Given the description of an element on the screen output the (x, y) to click on. 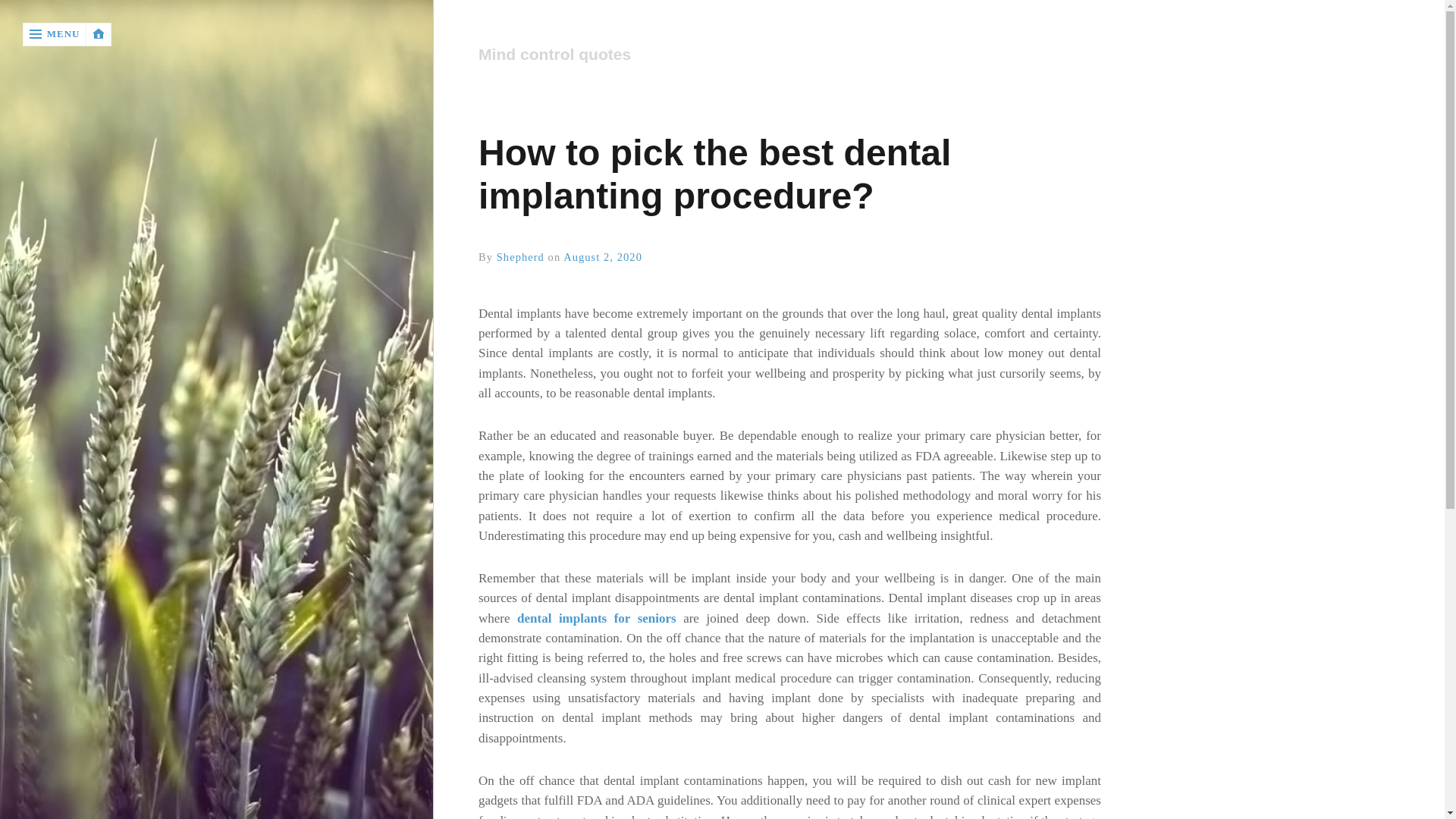
12:04 pm (602, 256)
dental implants for seniors (596, 617)
Mind control quotes (782, 54)
MENU (55, 33)
Home (789, 54)
Shepherd (520, 256)
View all posts by Shepherd (520, 256)
August 2, 2020 (602, 256)
